Given the description of an element on the screen output the (x, y) to click on. 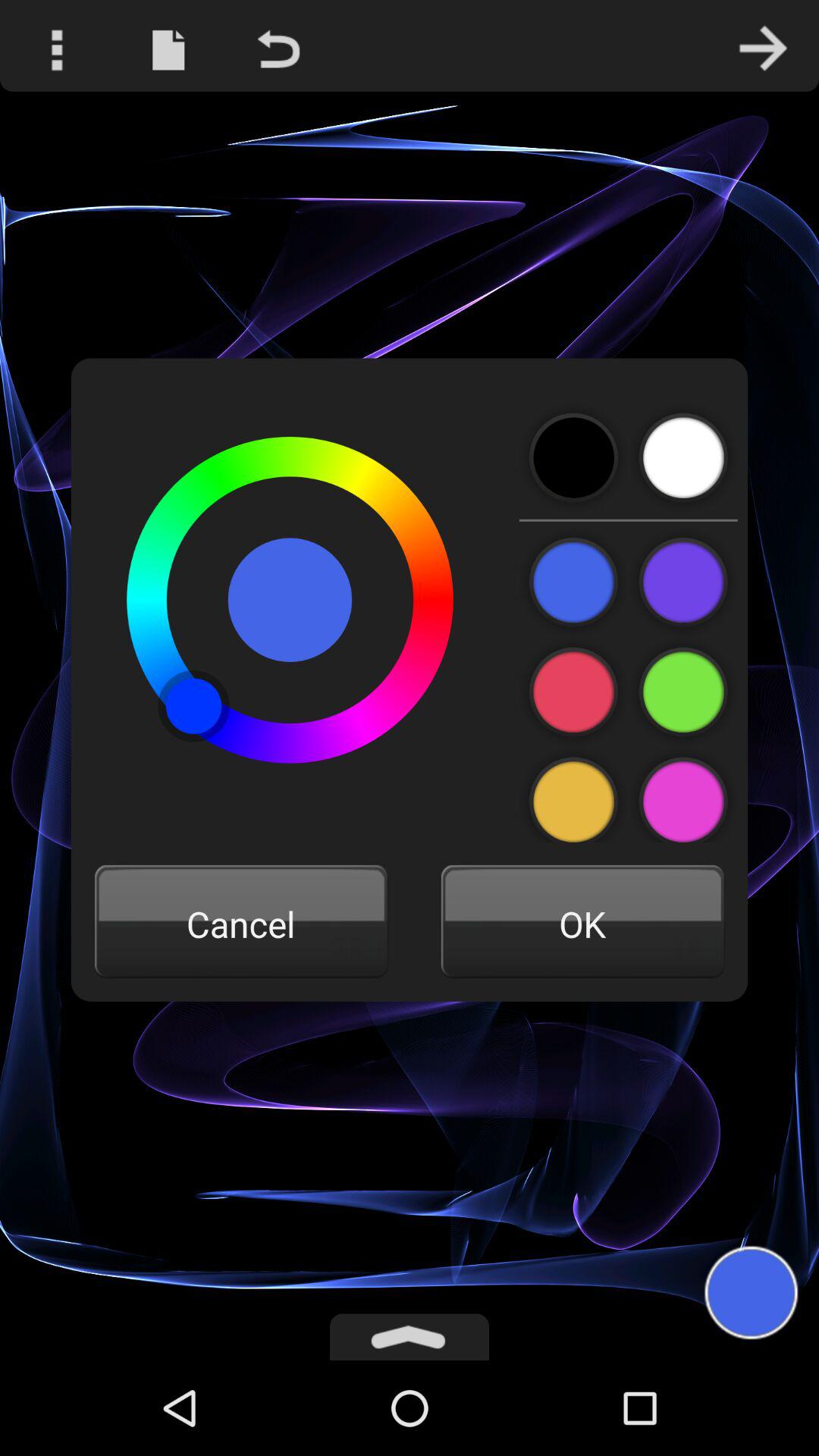
colour icon (683, 692)
